Given the description of an element on the screen output the (x, y) to click on. 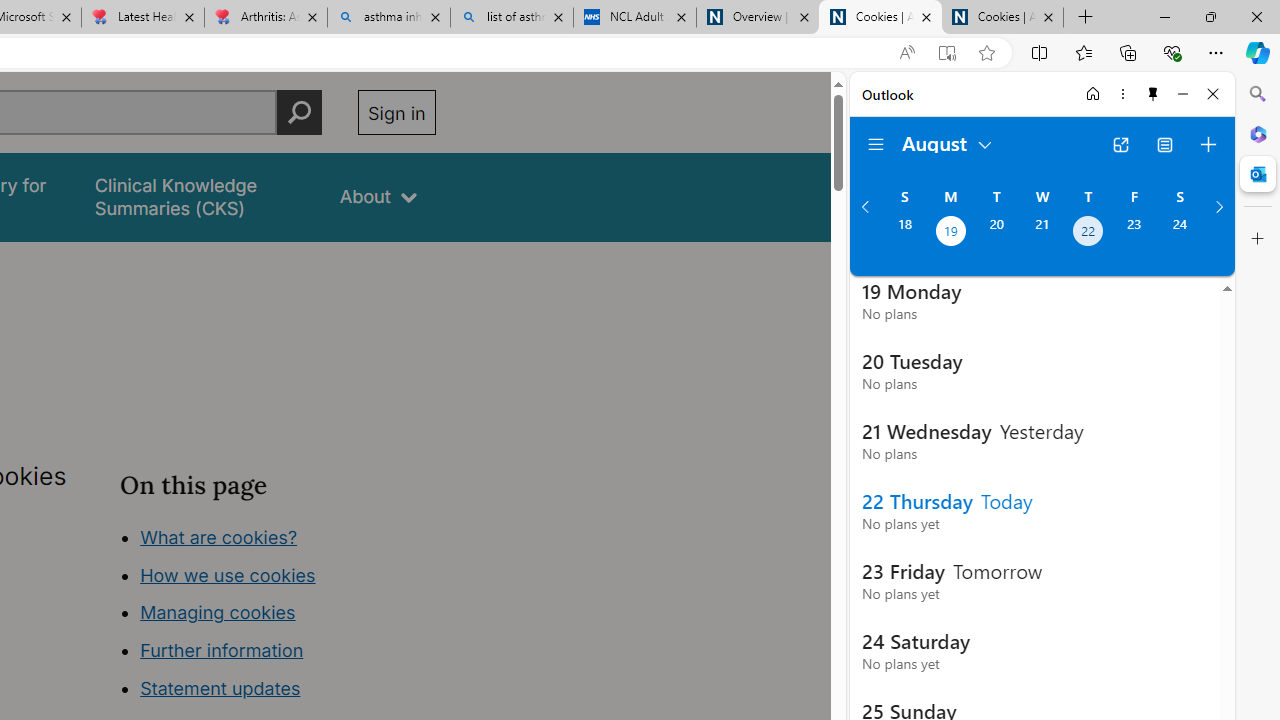
What are cookies? (218, 536)
asthma inhaler - Search (388, 17)
Class: in-page-nav__list (277, 615)
Cookies | About | NICE (1002, 17)
Statement updates (219, 688)
Open in new tab (1120, 144)
